Given the description of an element on the screen output the (x, y) to click on. 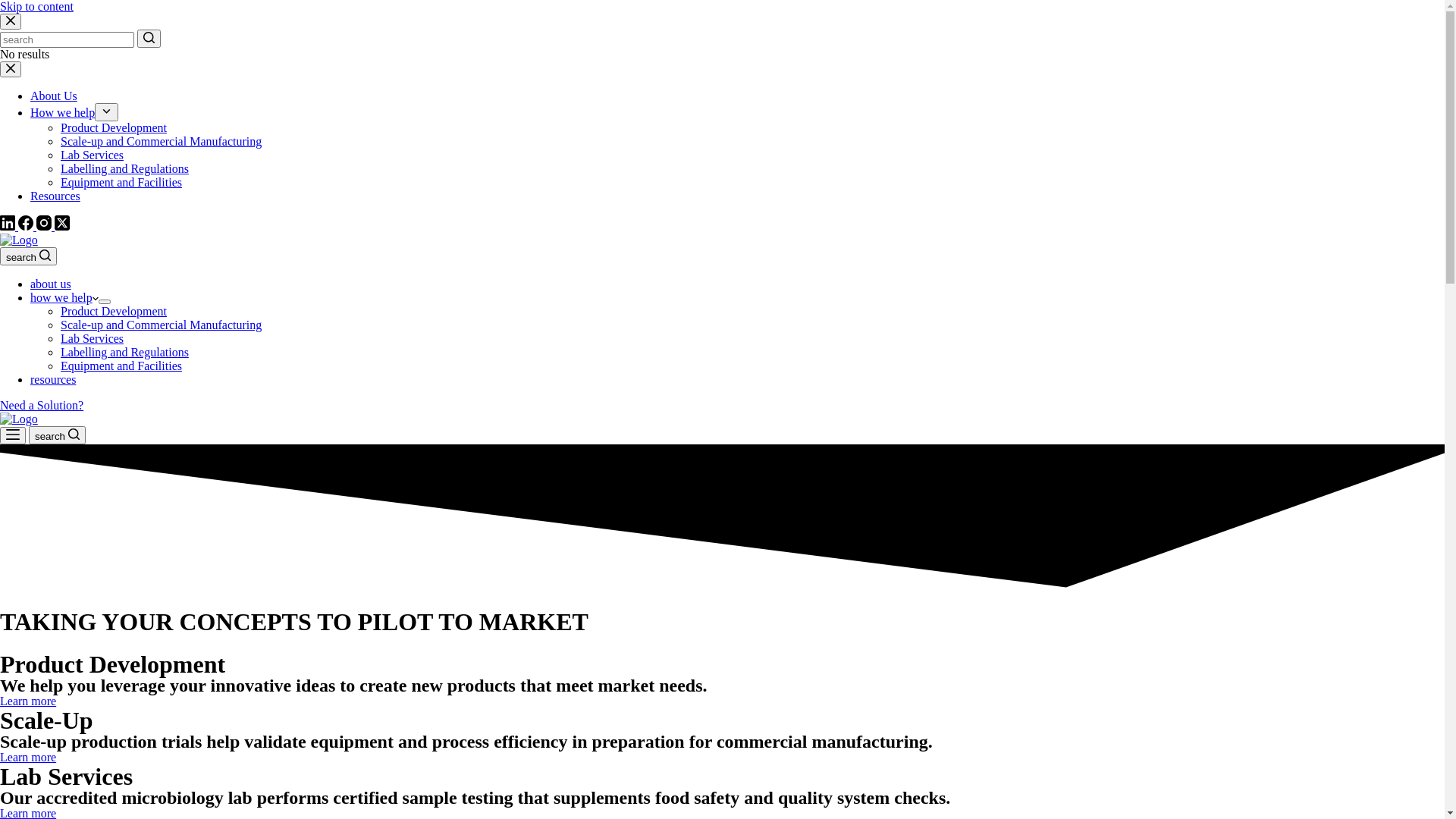
Labelling and Regulations Element type: text (124, 168)
Scale-up and Commercial Manufacturing Element type: text (160, 140)
Labelling and Regulations Element type: text (124, 351)
Resources Element type: text (55, 195)
Lab Services Element type: text (91, 154)
Equipment and Facilities Element type: text (121, 365)
Product Development Element type: text (113, 310)
How we help Element type: text (62, 112)
Equipment and Facilities Element type: text (121, 181)
Product Development Element type: text (113, 127)
Lab Services Element type: text (91, 338)
Learn more Element type: text (28, 700)
about us Element type: text (50, 283)
search Element type: text (56, 435)
search Element type: text (28, 256)
Search for... Element type: hover (67, 39)
Skip to content Element type: text (36, 6)
Need a Solution? Element type: text (41, 404)
how we help Element type: text (64, 297)
About Us Element type: text (53, 95)
Learn more Element type: text (28, 756)
resources Element type: text (52, 379)
Scale-up and Commercial Manufacturing Element type: text (160, 324)
